Given the description of an element on the screen output the (x, y) to click on. 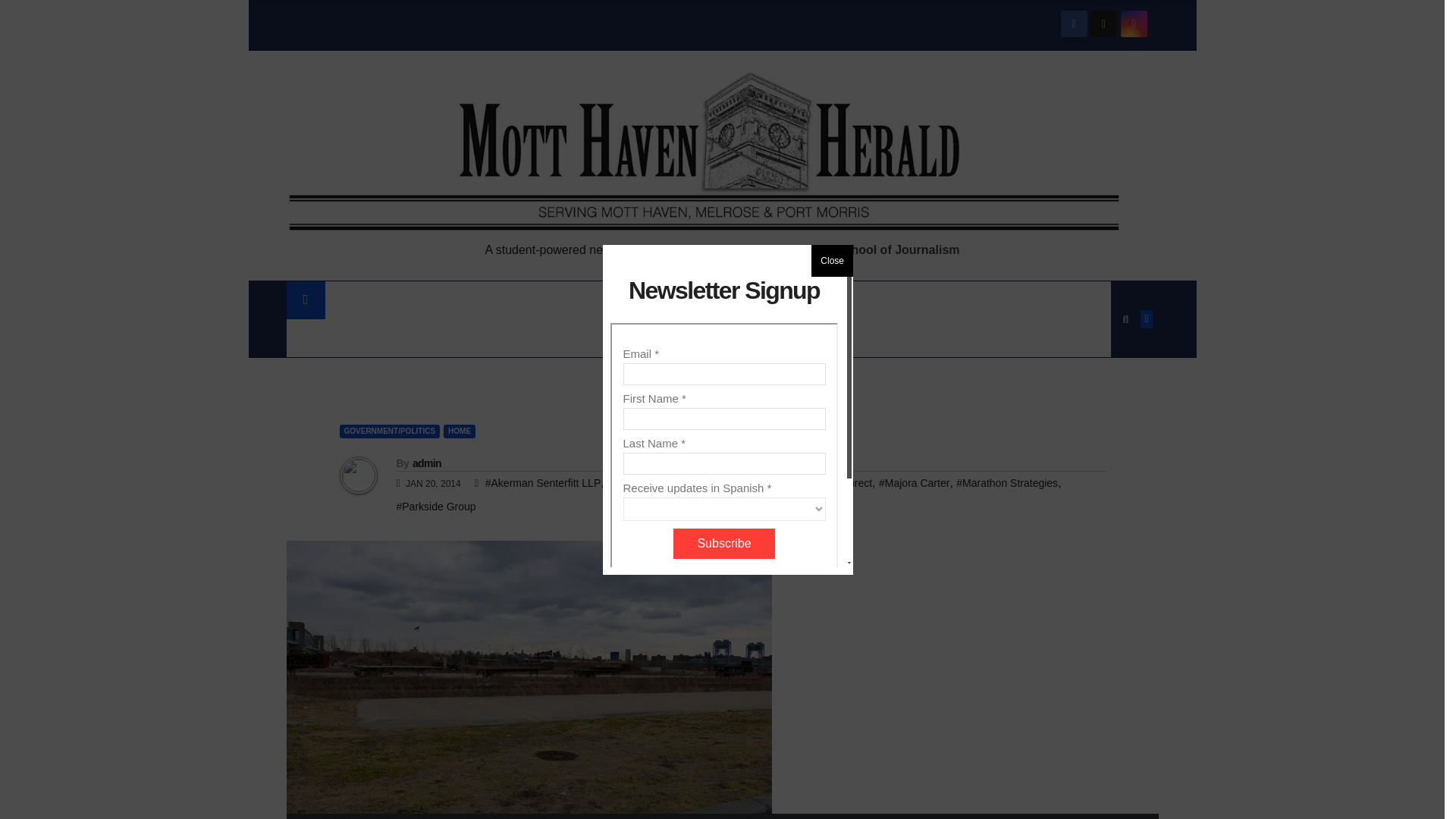
admin (426, 463)
EVENTS (501, 338)
Craig Newmark Graduate School of Journalism (823, 249)
Business (730, 300)
COMMUNITY RESOURCES (374, 338)
NEWS (357, 300)
HOME (460, 431)
Community resources (374, 338)
BUSINESS (730, 300)
Events (501, 338)
News (357, 300)
